Given the description of an element on the screen output the (x, y) to click on. 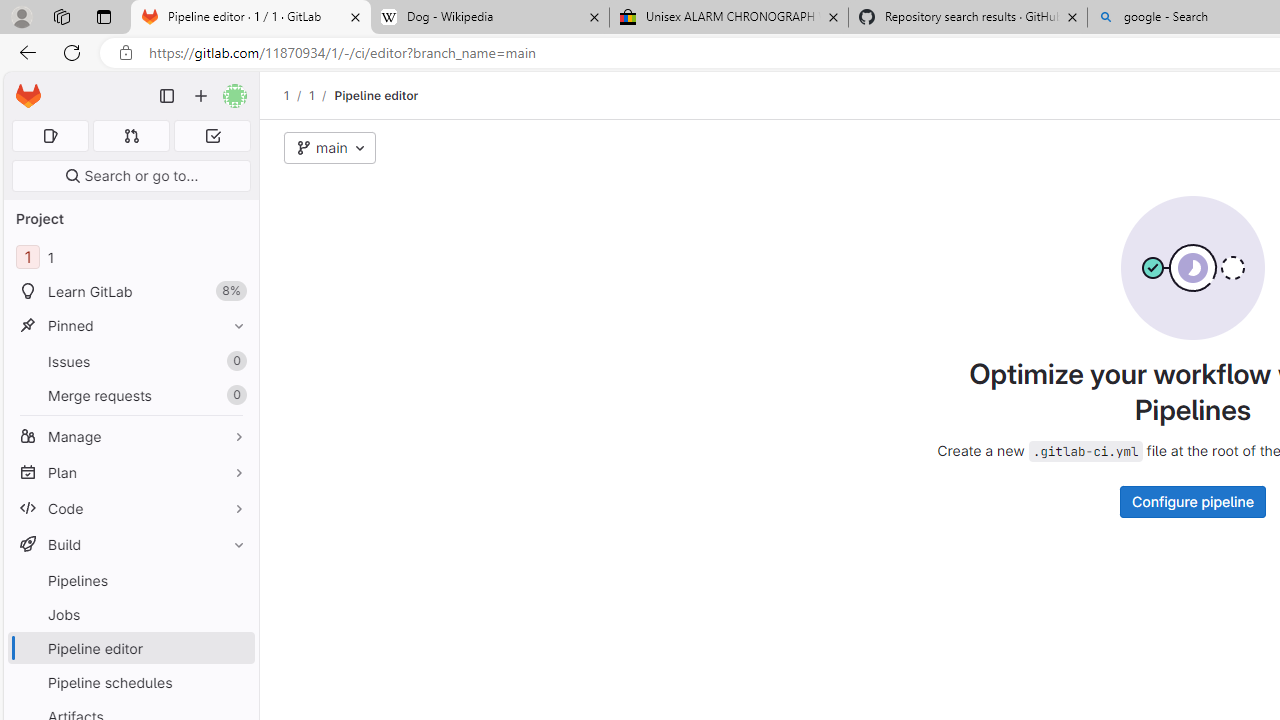
Plan (130, 471)
Learn GitLab 8% (130, 291)
1 1 (130, 257)
11 (130, 257)
Unpin Merge requests (234, 395)
Pin Pipelines (234, 580)
1 (311, 95)
Pipeline editor (376, 95)
Pipeline schedules (130, 682)
Merge requests0 (130, 394)
Assigned issues 0 (50, 136)
Pin Pipeline editor (234, 647)
